Given the description of an element on the screen output the (x, y) to click on. 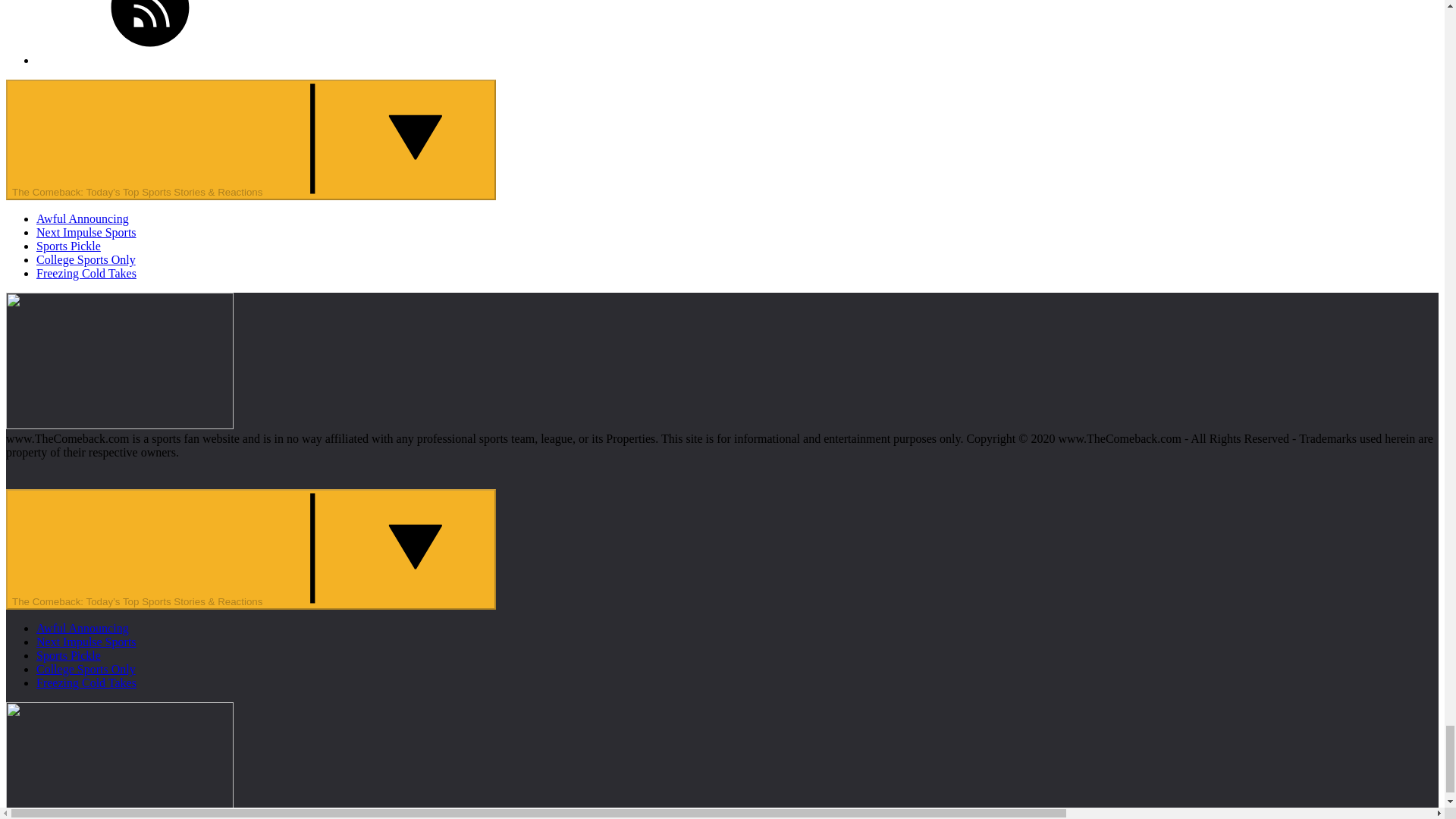
down-carrot (375, 138)
down-carrot (375, 548)
Link to RSS (149, 32)
